Given the description of an element on the screen output the (x, y) to click on. 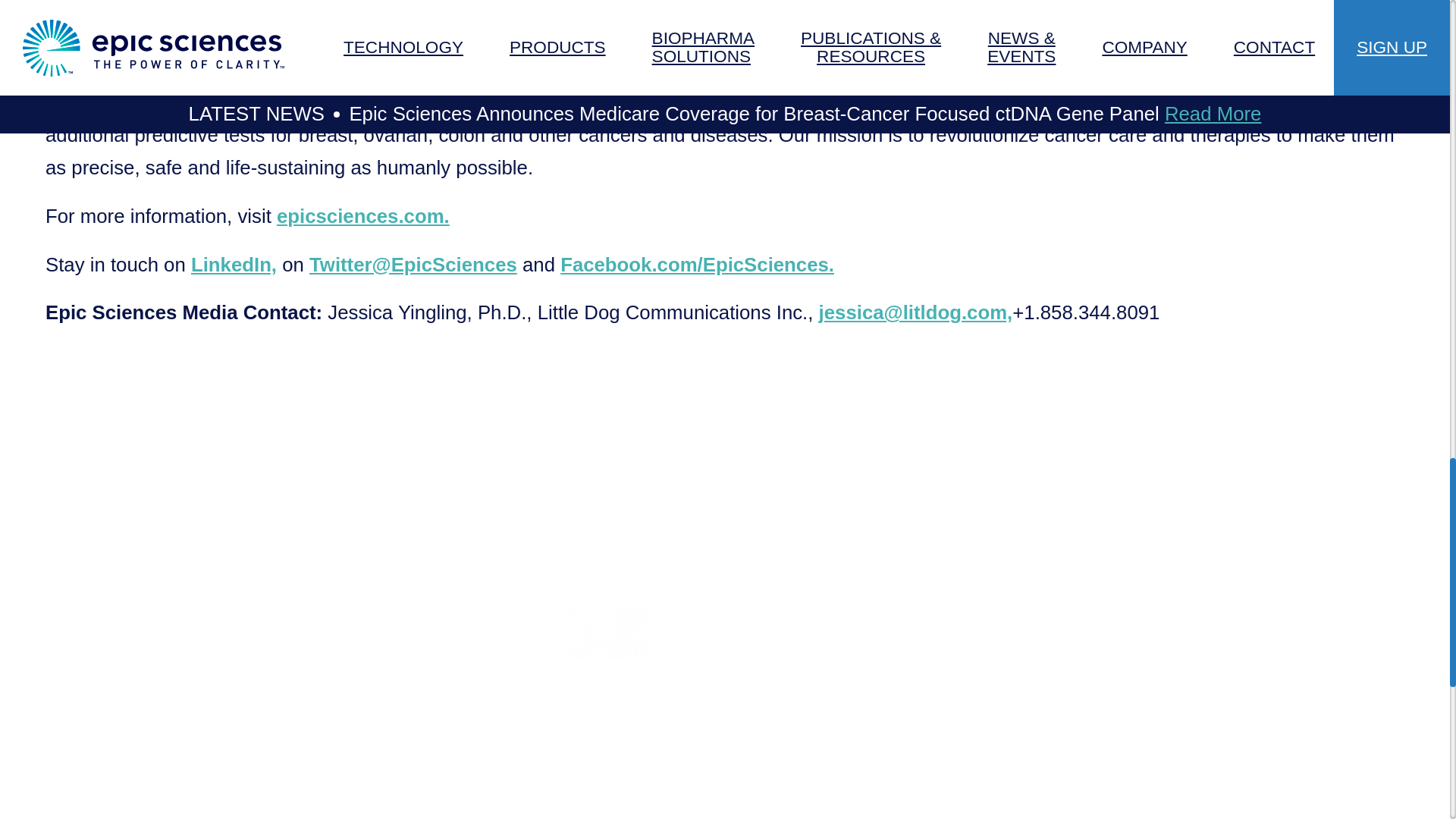
Publications (361, 814)
AR-V7 Test (358, 758)
LinkedIn, (233, 263)
Biopharma Solutions (394, 792)
epicsciences.com. (362, 215)
